Given the description of an element on the screen output the (x, y) to click on. 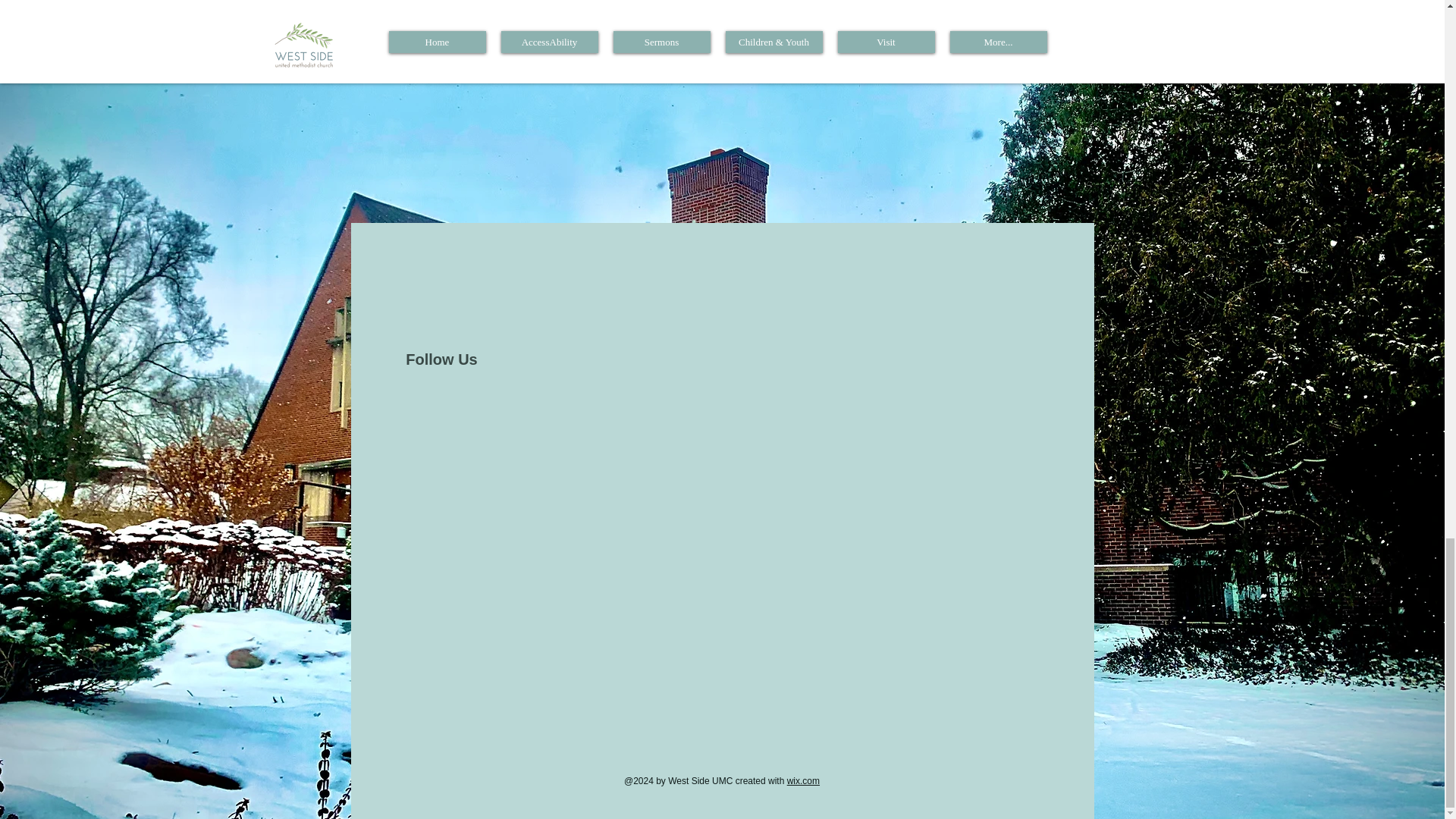
wix.com (803, 780)
